Given the description of an element on the screen output the (x, y) to click on. 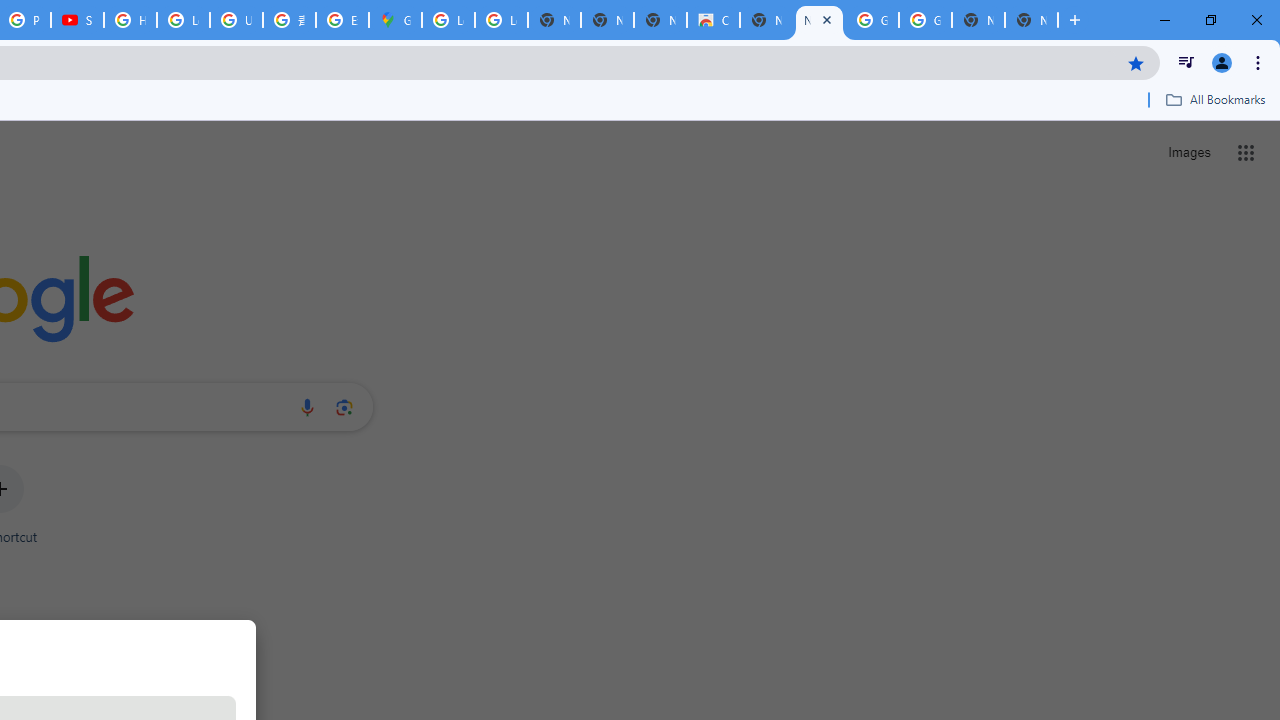
Explore new street-level details - Google Maps Help (342, 20)
Subscriptions - YouTube (77, 20)
All Bookmarks (1215, 99)
